Given the description of an element on the screen output the (x, y) to click on. 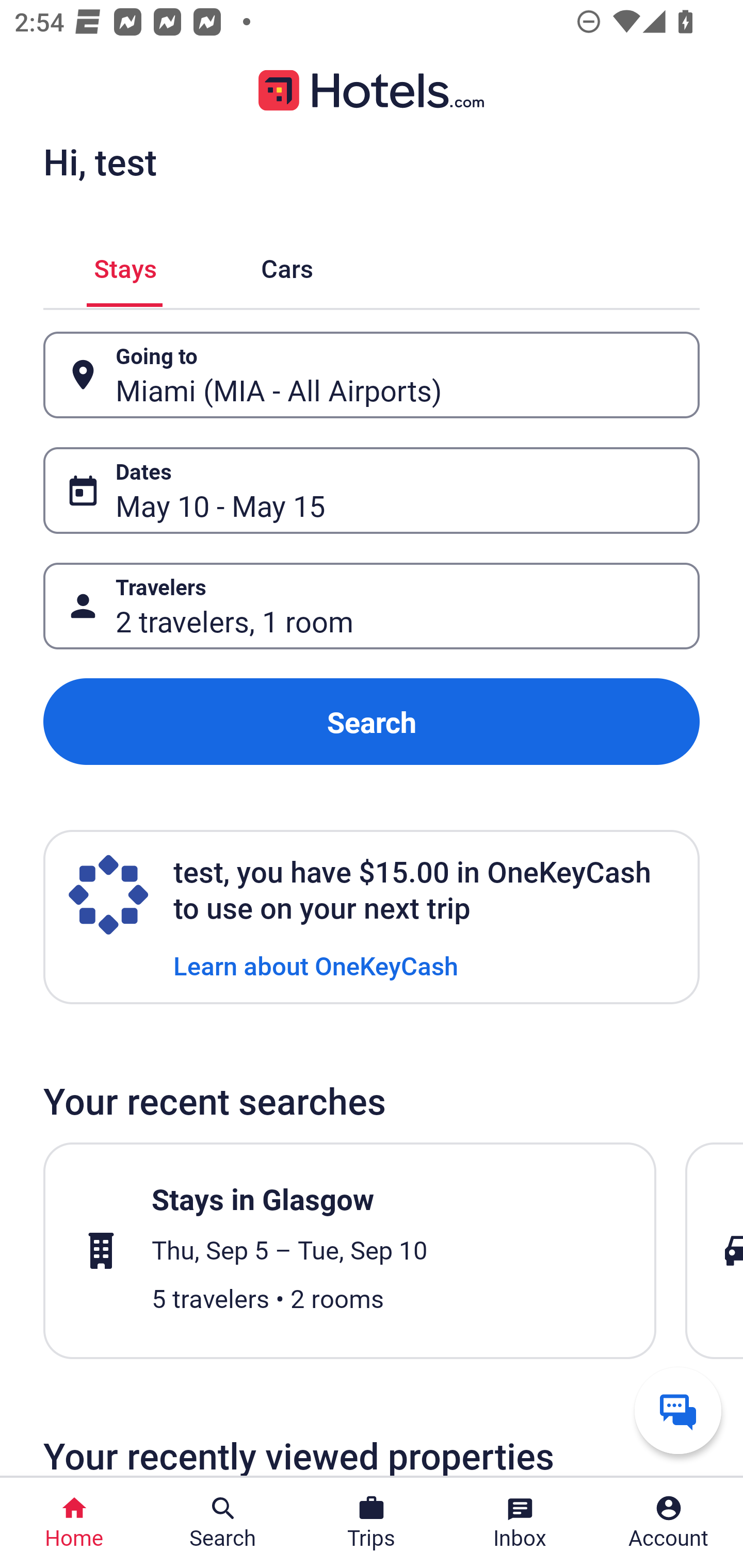
Hi, test (99, 161)
Cars (286, 265)
Going to Button Miami (MIA - All Airports) (371, 375)
Dates Button May 10 - May 15 (371, 489)
Travelers Button 2 travelers, 1 room (371, 605)
Search (371, 721)
Learn about OneKeyCash Learn about OneKeyCash Link (315, 964)
Get help from a virtual agent (677, 1410)
Search Search Button (222, 1522)
Trips Trips Button (371, 1522)
Inbox Inbox Button (519, 1522)
Account Profile. Button (668, 1522)
